Given the description of an element on the screen output the (x, y) to click on. 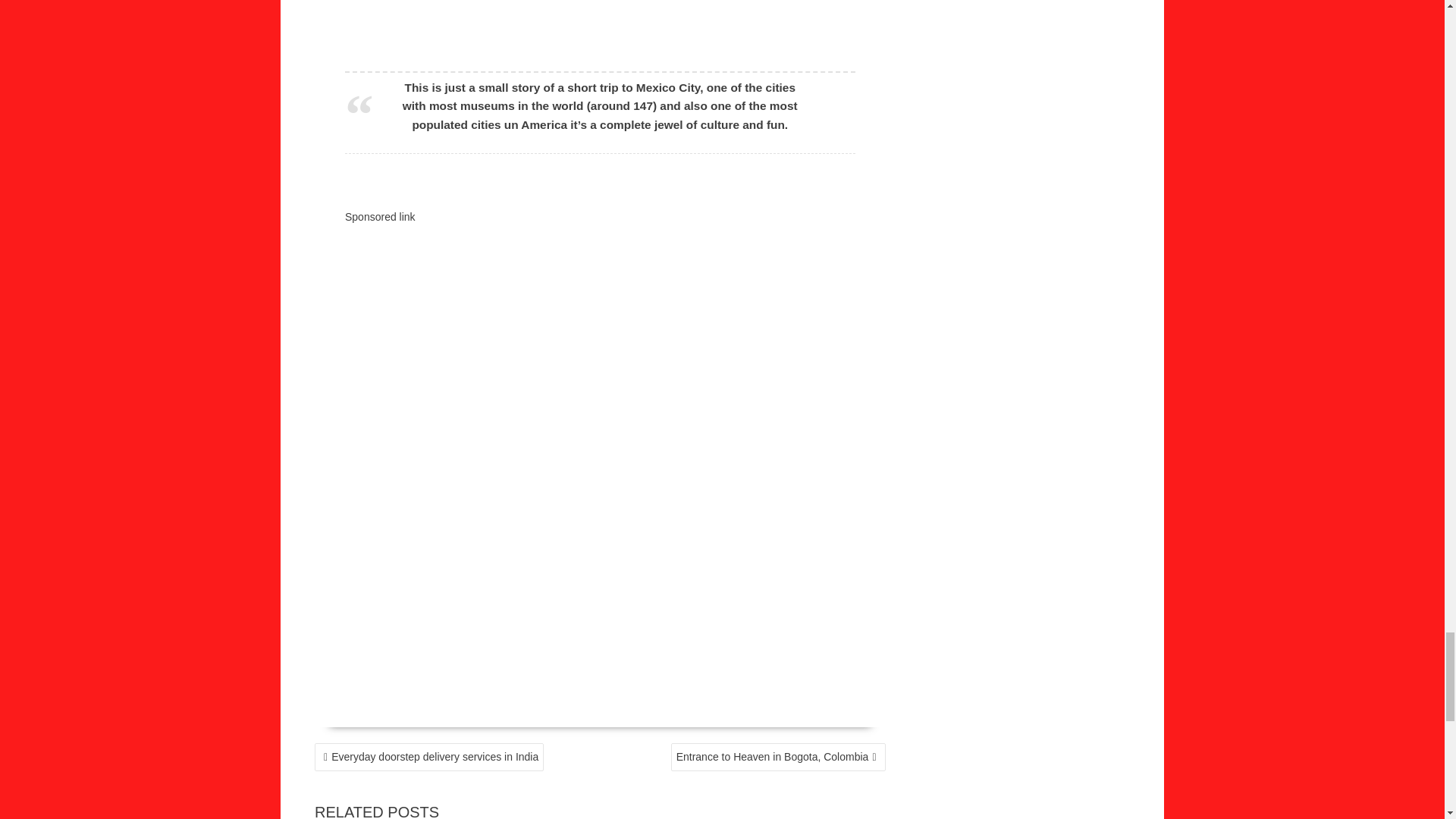
Entrance to Heaven in Bogota, Colombia (778, 756)
Everyday doorstep delivery services in India (428, 756)
